Given the description of an element on the screen output the (x, y) to click on. 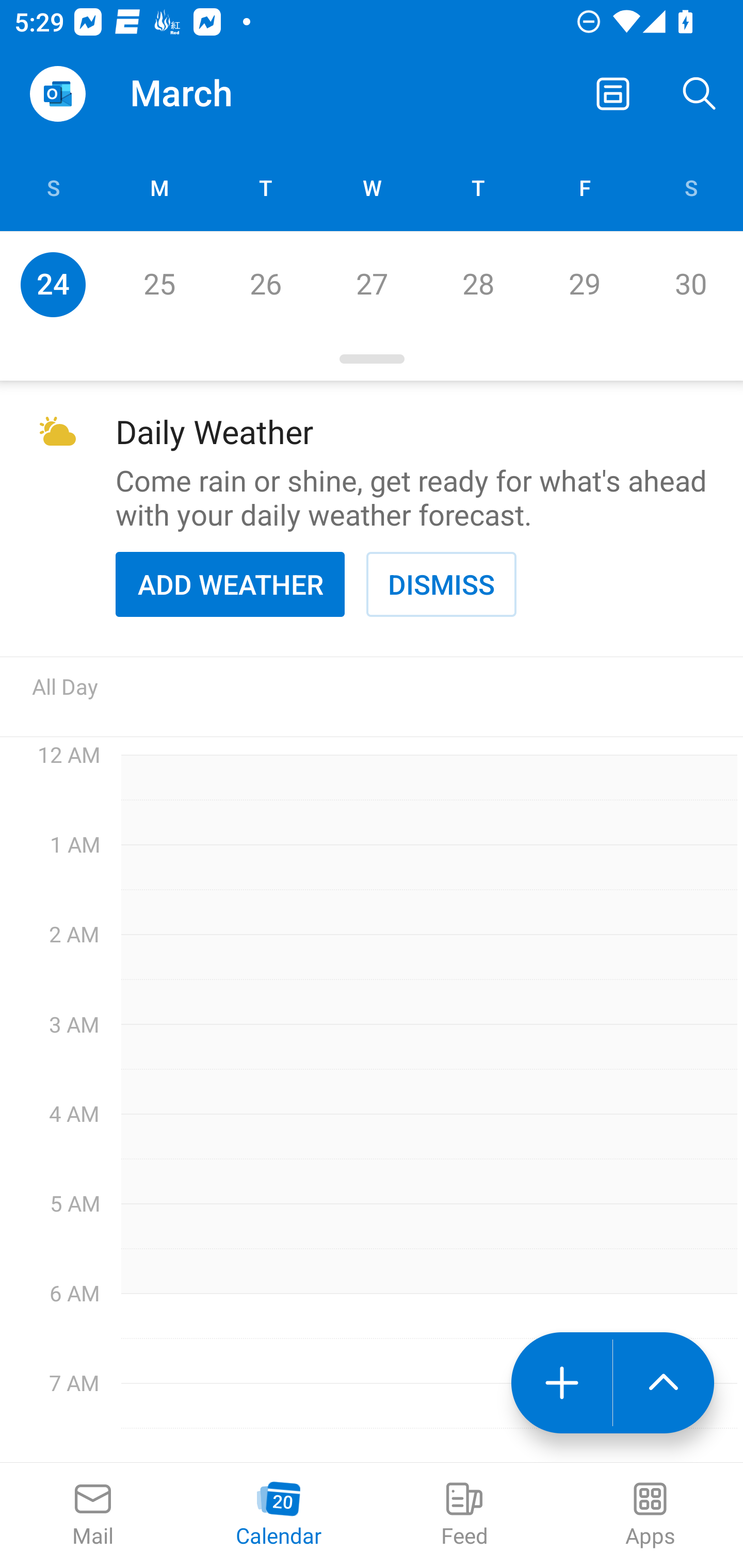
March March 2024, day picker (209, 93)
Switch away from Day view (612, 93)
Search, ,  (699, 93)
Open Navigation Drawer (57, 94)
24 Sunday, March 24, Selected (53, 284)
25 Monday, March 25 (159, 284)
26 Tuesday, March 26 (265, 284)
27 Wednesday, March 27 (371, 284)
28 Thursday, March 28 (477, 284)
29 Friday, March 29 (584, 284)
30 Saturday, March 30 (690, 284)
Day picker (371, 359)
ADD WEATHER (230, 583)
DISMISS (440, 583)
New event (561, 1382)
launch the extended action menu (663, 1382)
Mail (92, 1515)
Feed (464, 1515)
Apps (650, 1515)
